Given the description of an element on the screen output the (x, y) to click on. 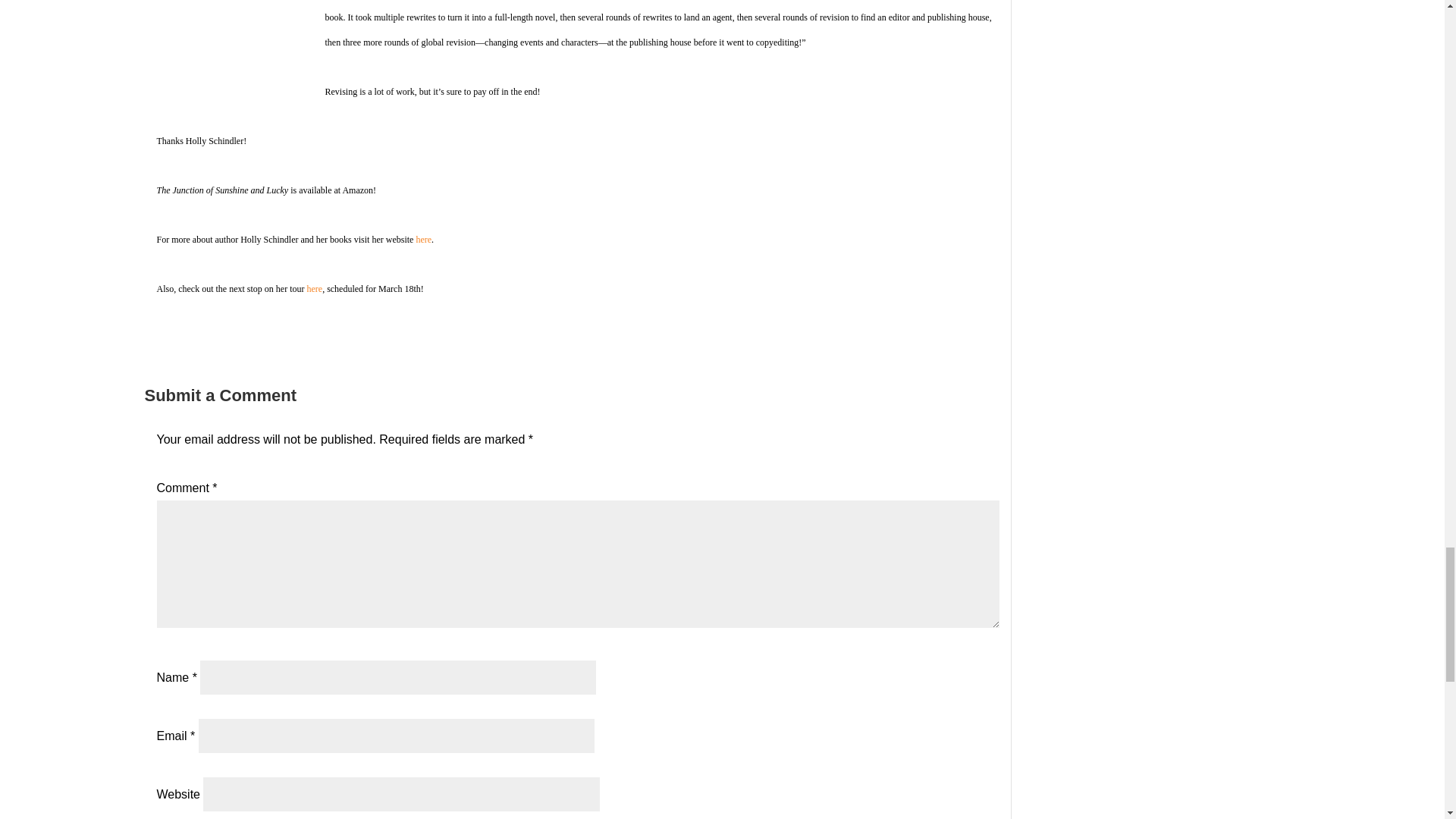
here (422, 239)
Amazon (357, 190)
here (313, 288)
here (313, 288)
Amazon (357, 190)
here (422, 239)
